Given the description of an element on the screen output the (x, y) to click on. 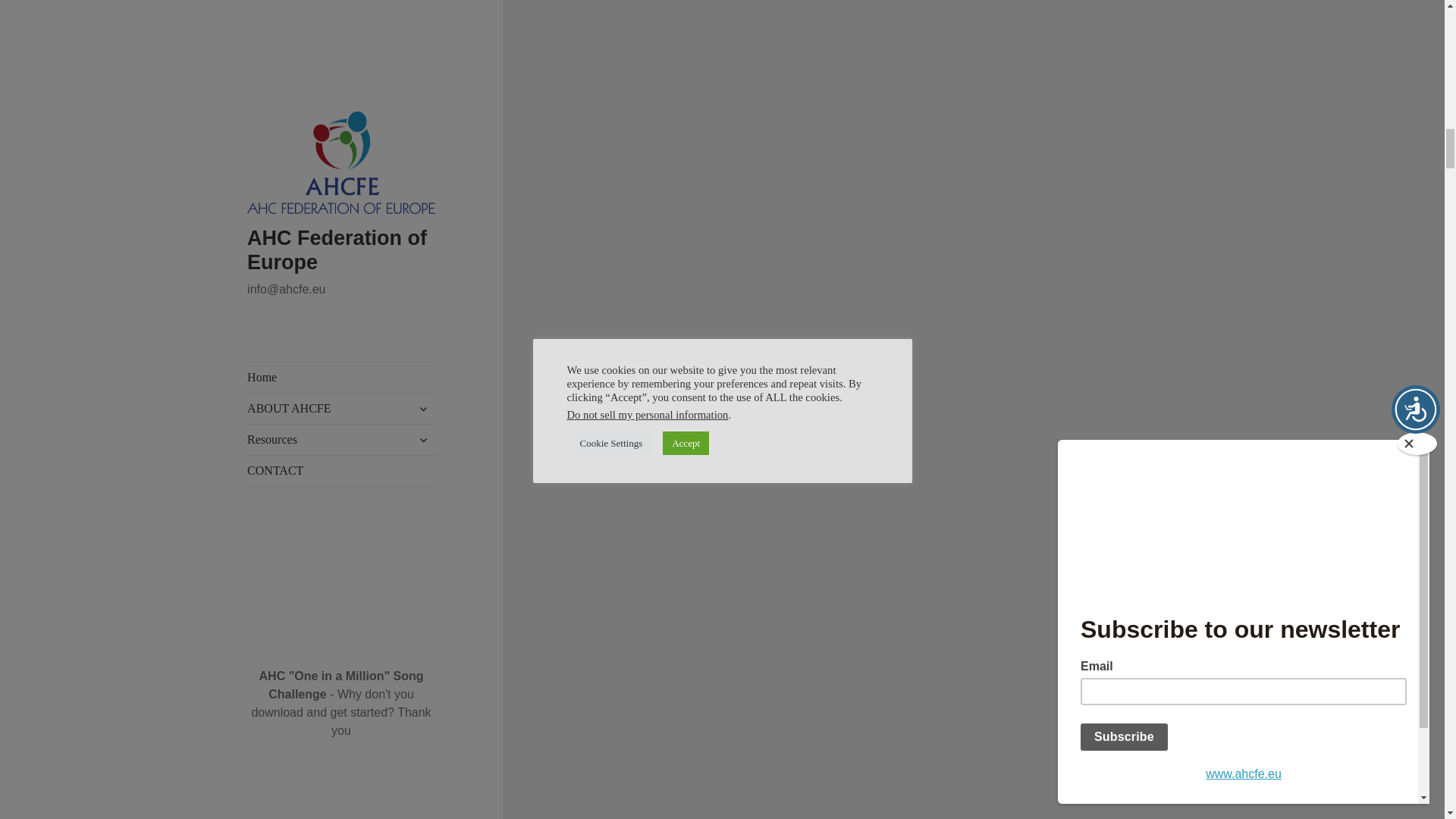
YouTube video player (834, 4)
